Given the description of an element on the screen output the (x, y) to click on. 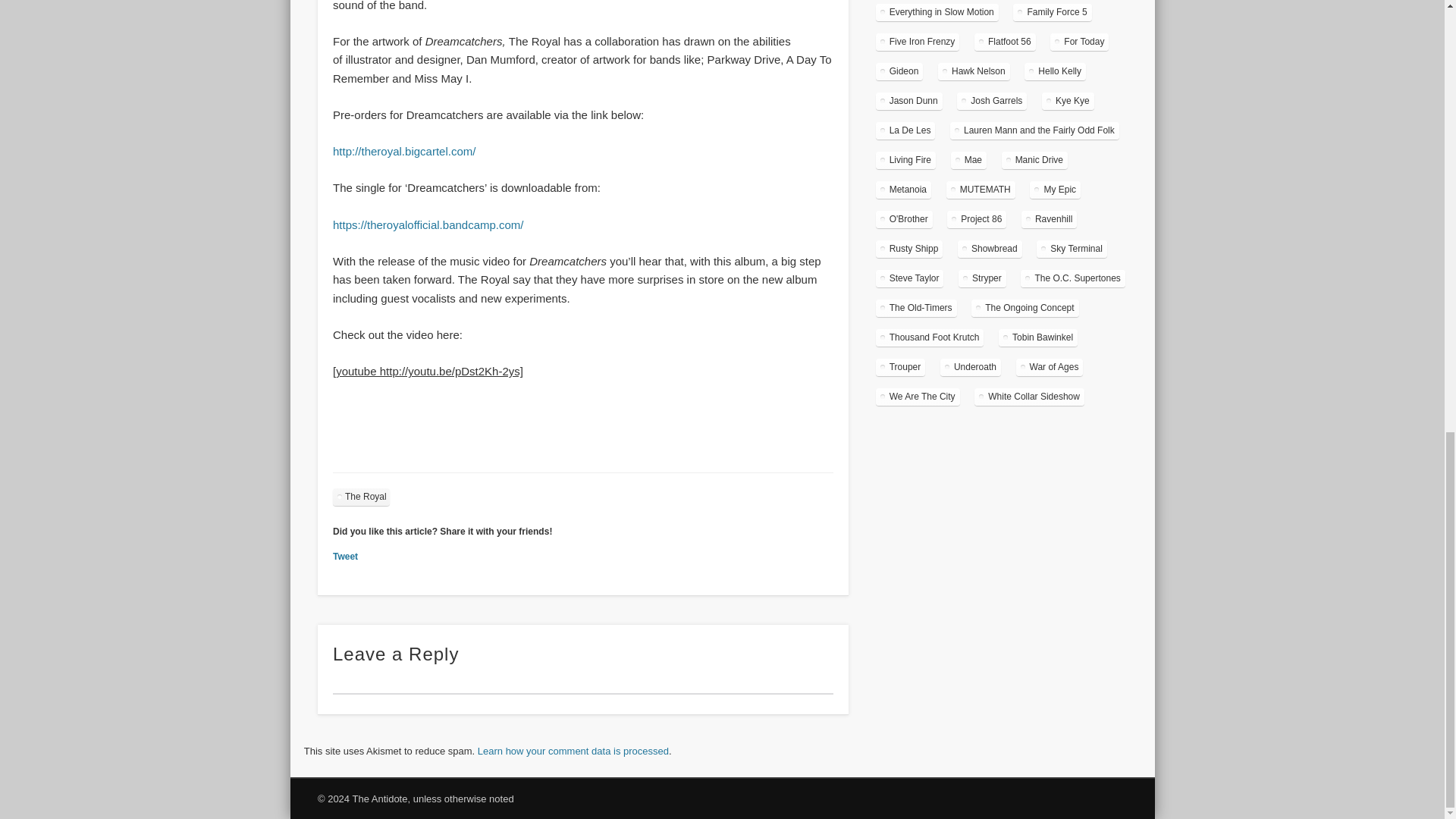
The Royal (361, 497)
Learn how your comment data is processed (572, 750)
Tweet (345, 556)
